Given the description of an element on the screen output the (x, y) to click on. 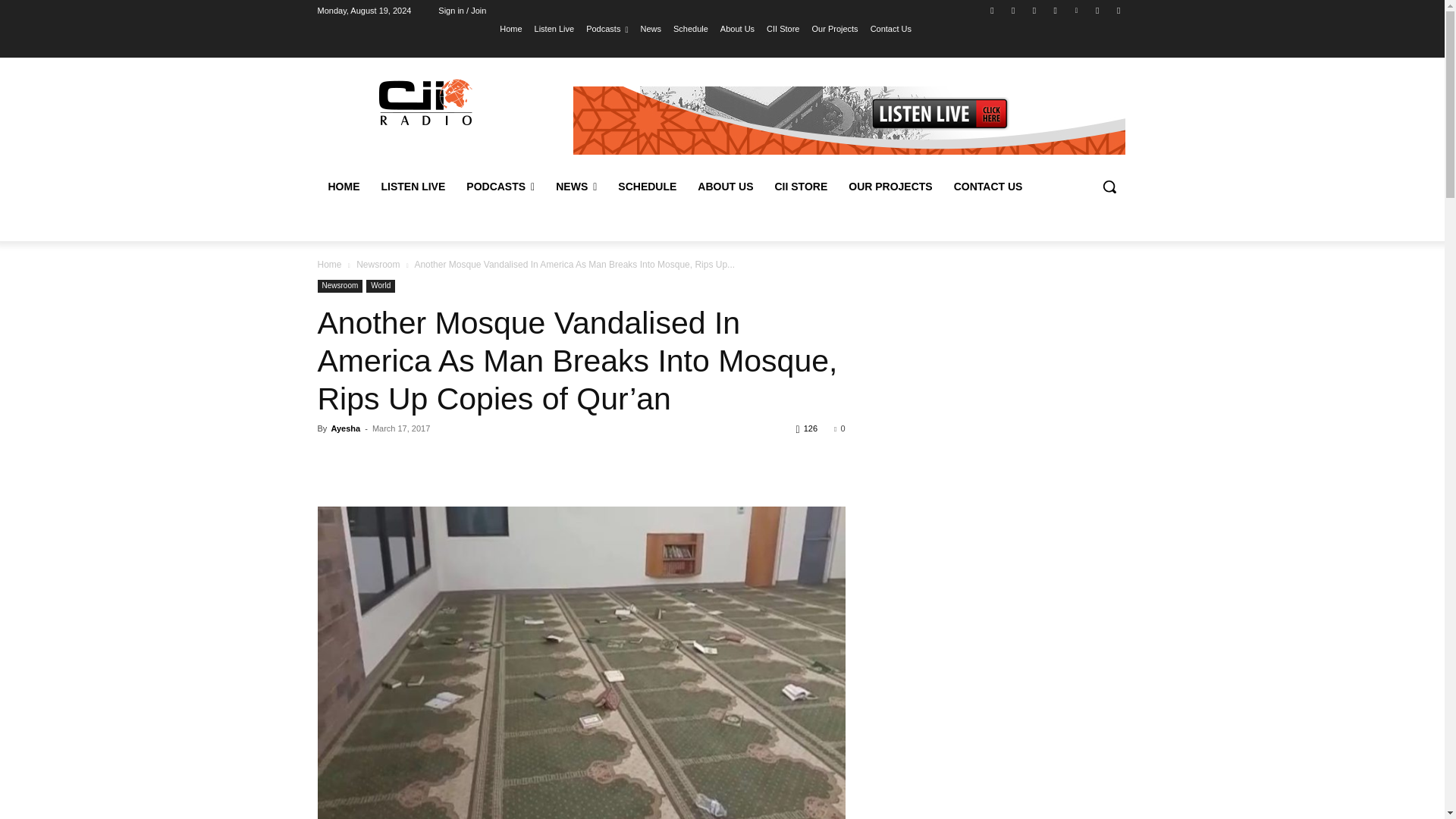
Contact Us (890, 28)
Listen Live (554, 28)
About Us (737, 28)
TikTok (1055, 9)
News (650, 28)
Home (510, 28)
Soundcloud (1034, 9)
Instagram (1013, 9)
WhatsApp (1097, 9)
Youtube (1117, 9)
